Given the description of an element on the screen output the (x, y) to click on. 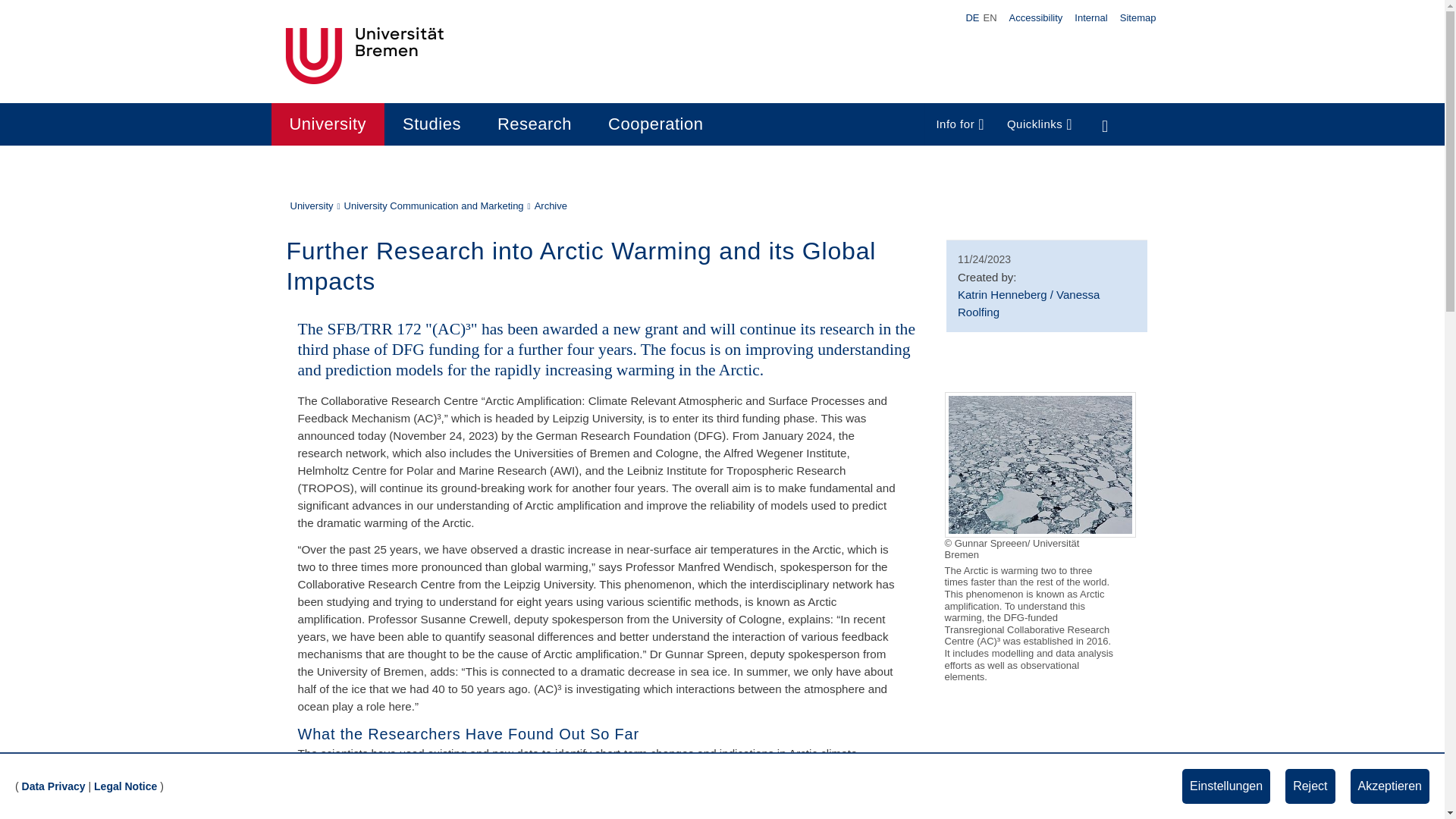
DE (971, 17)
Scroll to the bottom of the page (1411, 785)
Internal (1090, 16)
Sitemap (1137, 16)
Accessibility (1035, 16)
